Given the description of an element on the screen output the (x, y) to click on. 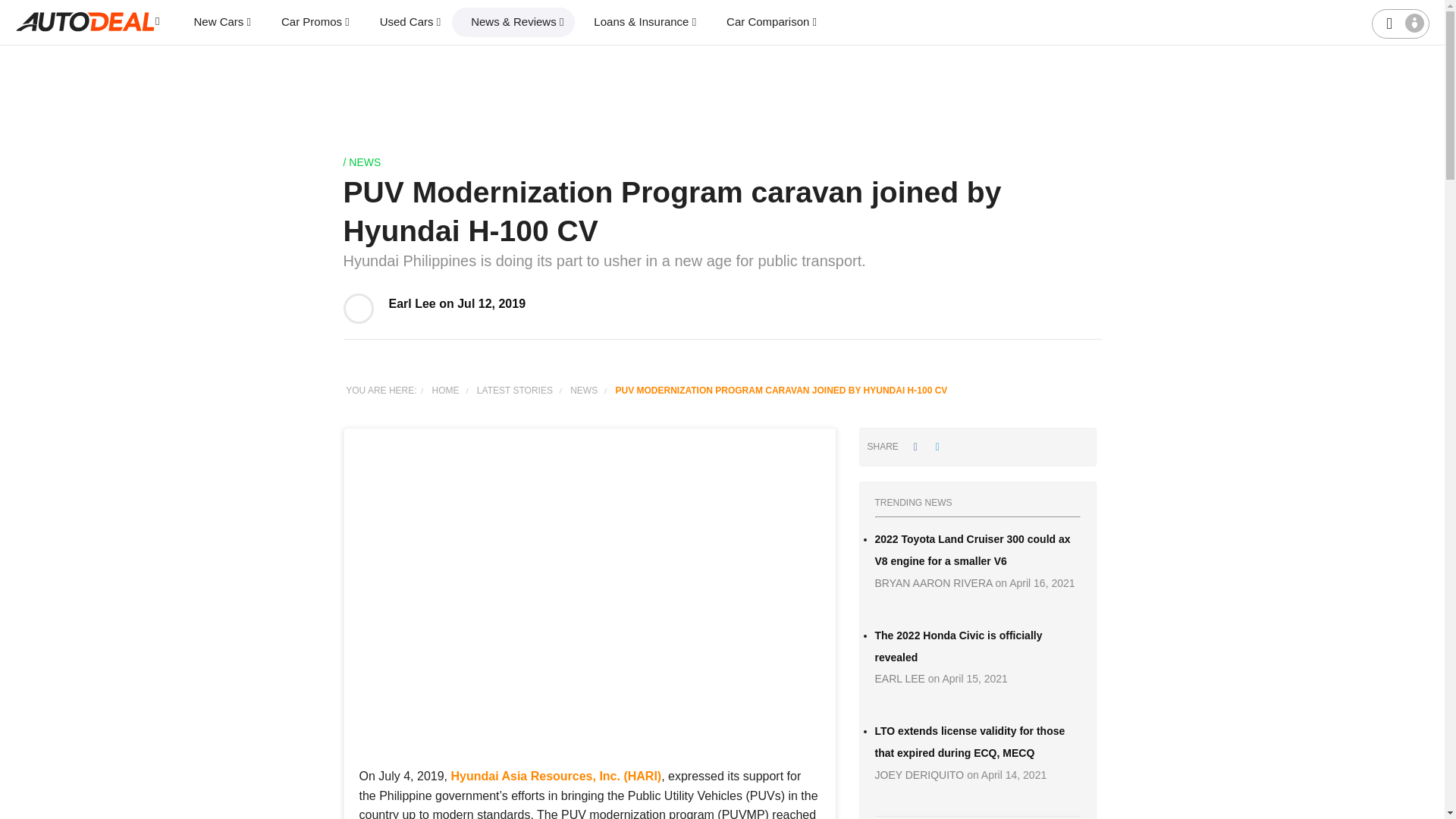
Car Promos (315, 21)
New Cars (222, 21)
